Given the description of an element on the screen output the (x, y) to click on. 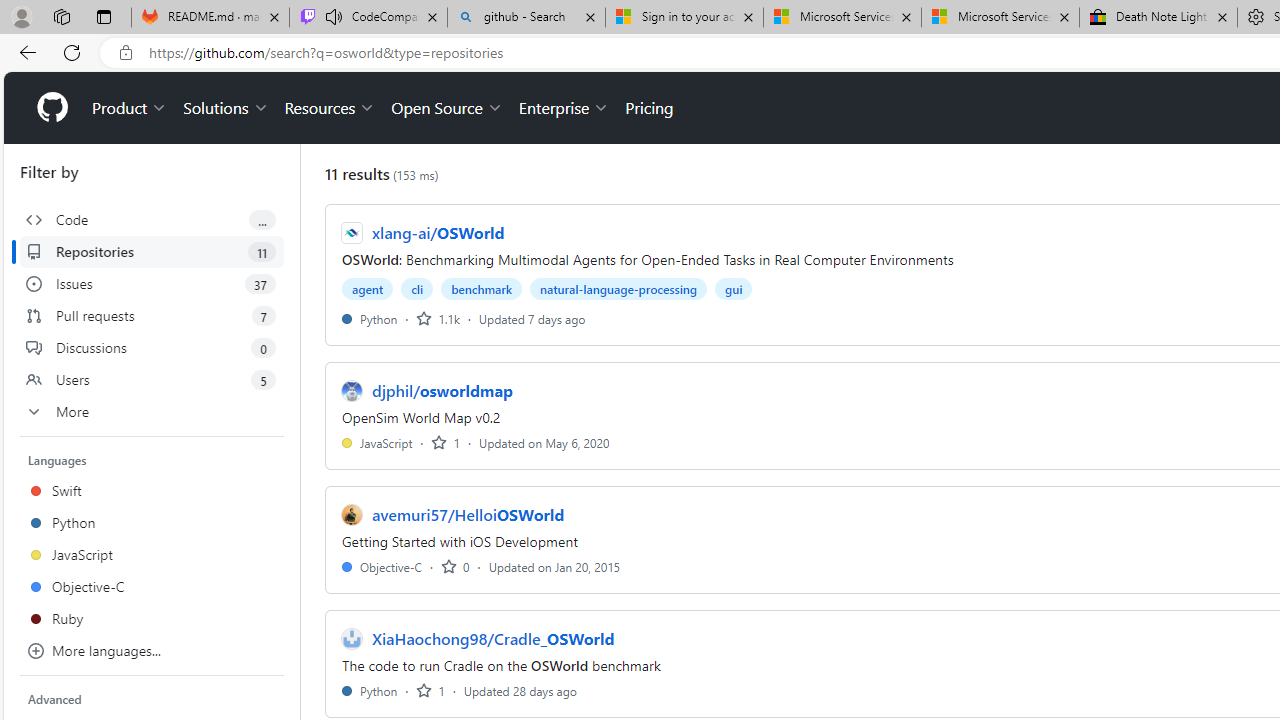
benchmark (482, 288)
agent (367, 288)
1 stars (430, 690)
Solutions (225, 107)
0 (455, 566)
Enterprise (563, 107)
djphil/osworldmap (443, 390)
